Given the description of an element on the screen output the (x, y) to click on. 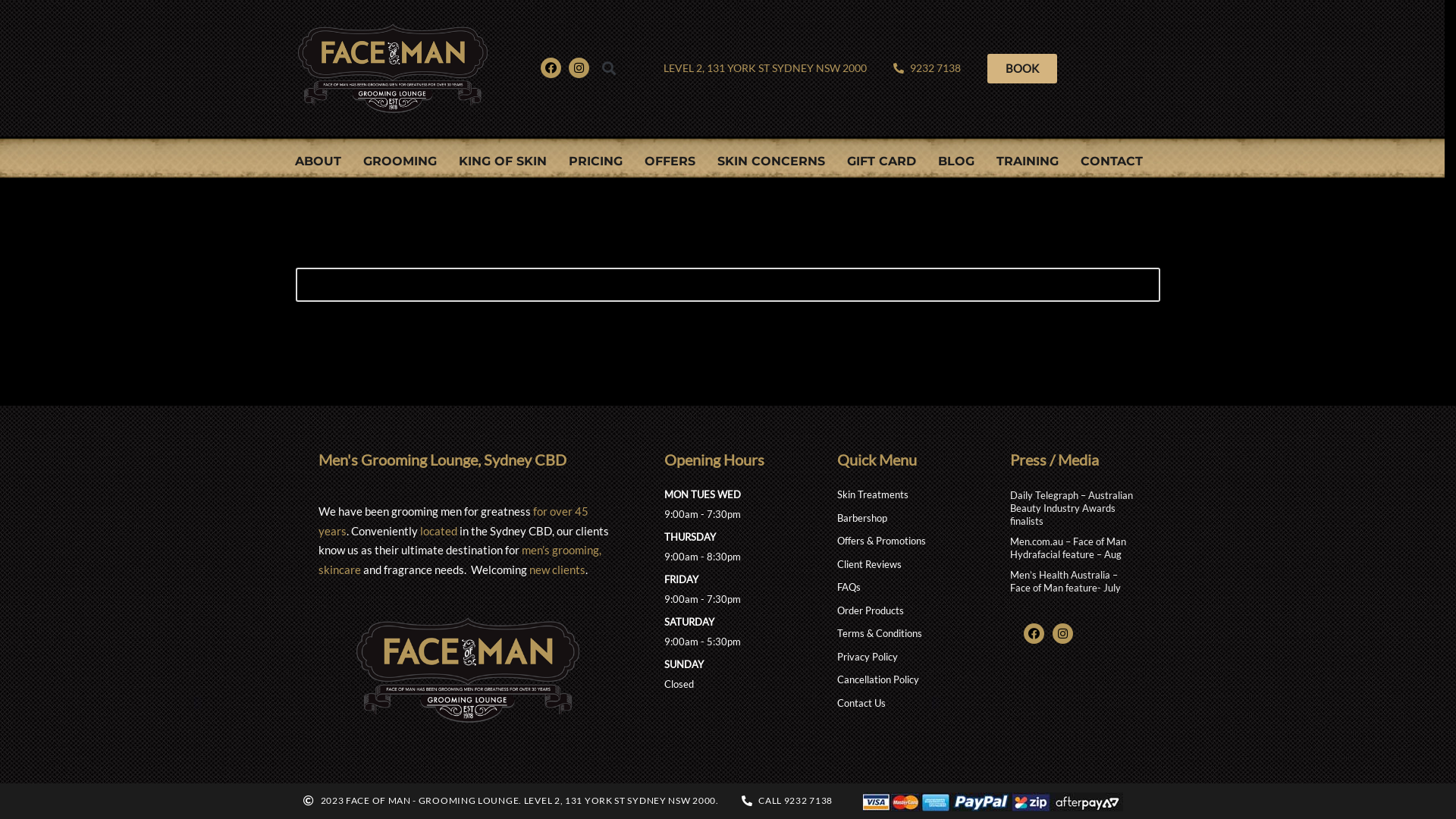
Skip to content Element type: text (11, 31)
OFFERS Element type: text (669, 161)
KING OF SKIN Element type: text (501, 161)
Barbershop Element type: text (900, 518)
Contact Us Element type: text (900, 703)
Privacy Policy Element type: text (900, 657)
FAQs Element type: text (900, 587)
BOOK Element type: text (1022, 67)
TRAINING Element type: text (1027, 161)
for over 45 years Element type: text (453, 520)
SKIN CONCERNS Element type: text (770, 161)
Cancellation Policy Element type: text (900, 680)
9232 7138 Element type: text (927, 68)
new clients Element type: text (557, 569)
Skin Treatments Element type: text (900, 495)
LEVEL 2, 131 YORK ST SYDNEY NSW 2000 Element type: text (764, 68)
ABOUT Element type: text (317, 161)
Terms & Conditions Element type: text (900, 633)
located Element type: text (438, 530)
Offers & Promotions Element type: text (900, 541)
GROOMING Element type: text (398, 161)
BLOG Element type: text (955, 161)
PRICING Element type: text (595, 161)
CALL 9232 7138 Element type: text (786, 800)
CONTACT Element type: text (1110, 161)
Client Reviews Element type: text (900, 564)
Order Products Element type: text (900, 611)
GIFT CARD Element type: text (880, 161)
